Given the description of an element on the screen output the (x, y) to click on. 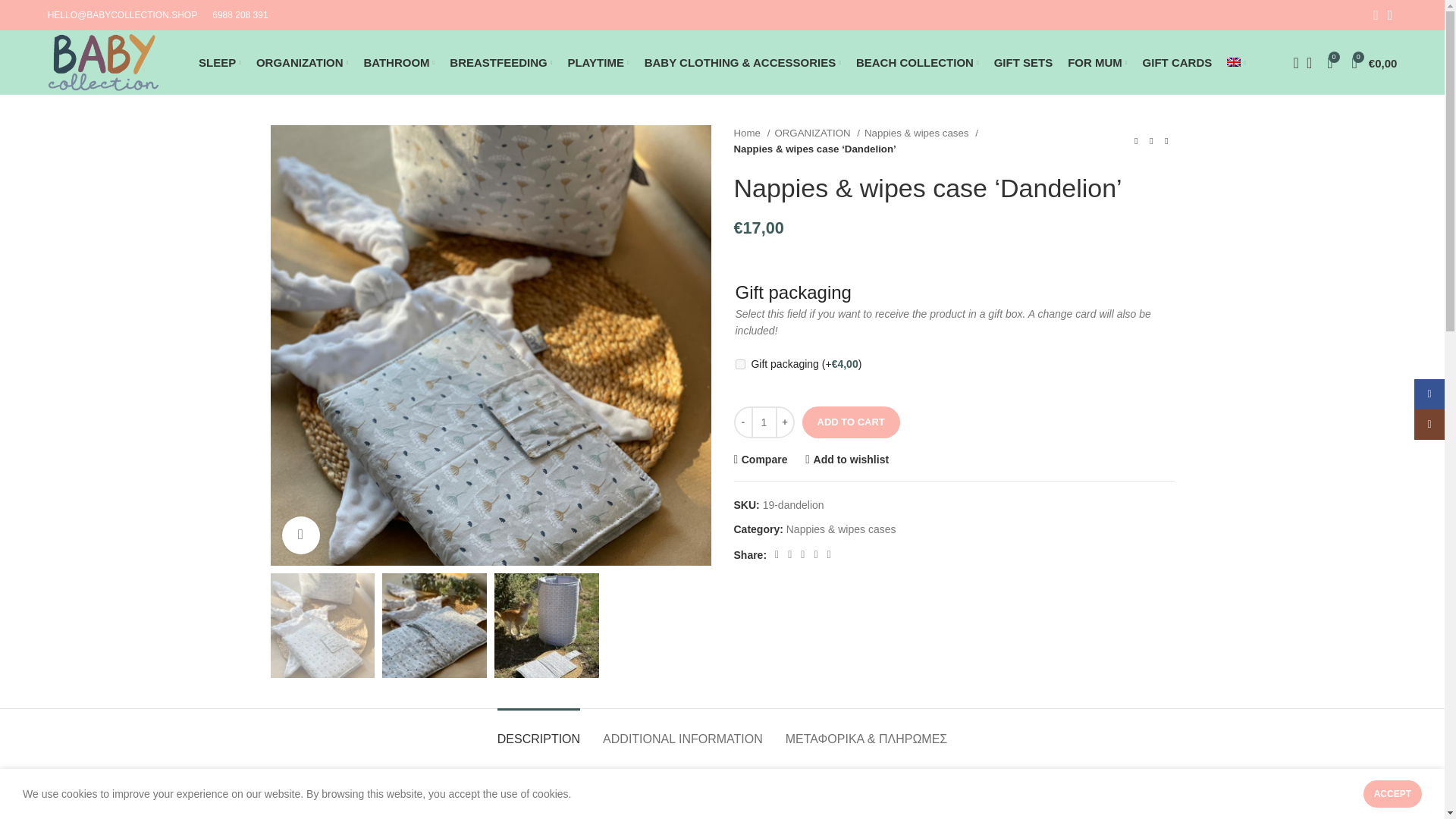
ORGANIZATION (301, 61)
6988 208 391 (239, 15)
gift-packaging (740, 364)
SLEEP (219, 61)
